Given the description of an element on the screen output the (x, y) to click on. 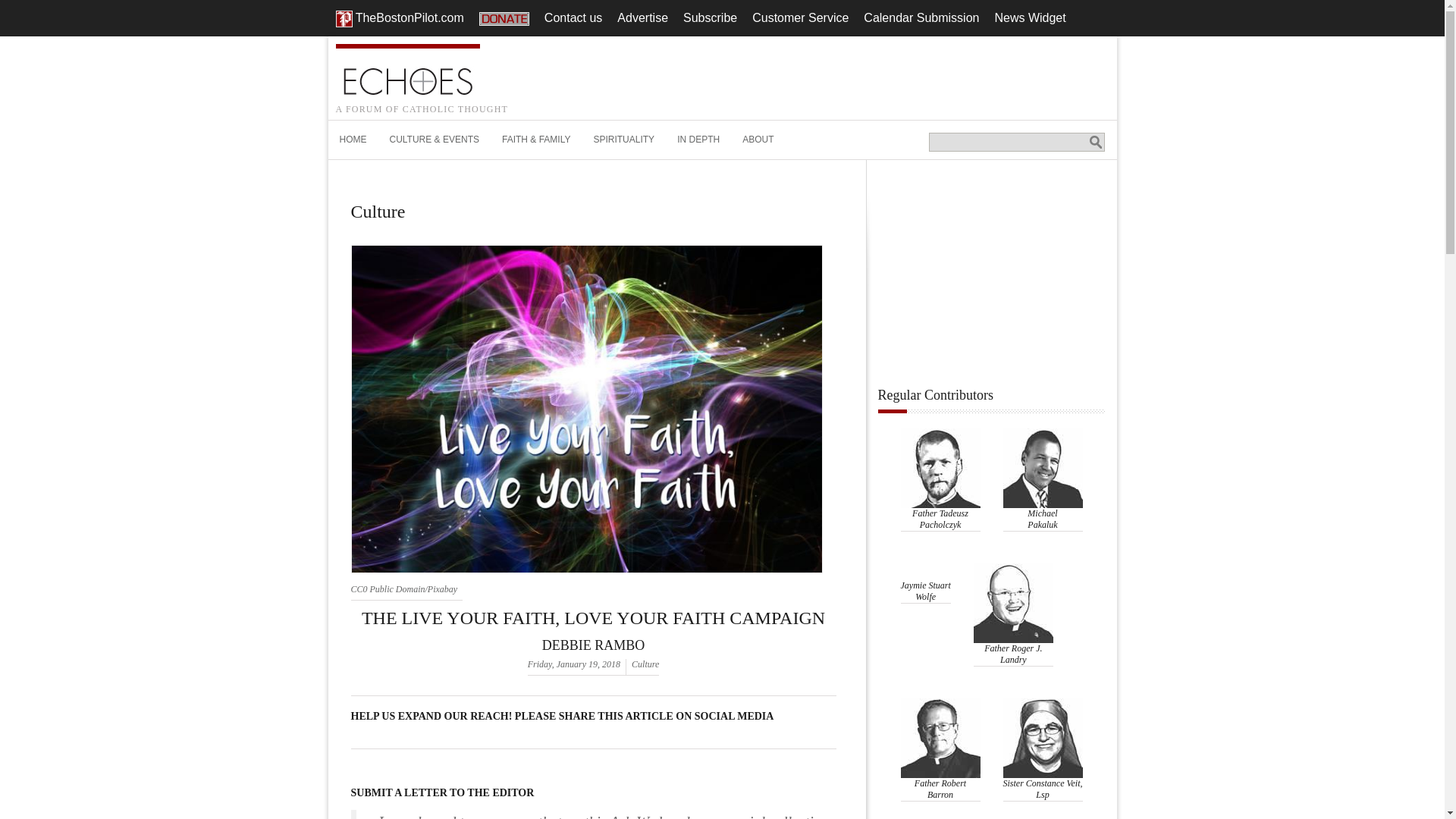
IN DEPTH (697, 139)
Customer Service (800, 17)
Search (1094, 141)
Donate (504, 17)
SUBMIT A LETTER TO THE EDITOR (592, 792)
ABOUT (757, 139)
Contact us (573, 17)
Search (1094, 141)
3rd party ad content (991, 278)
News Widget (1030, 17)
Subscribe (709, 17)
THE LIVE YOUR FAITH, LOVE YOUR FAITH CAMPAIGN (593, 618)
Culture (645, 664)
SPIRITUALITY (622, 139)
Advertise (642, 17)
